Given the description of an element on the screen output the (x, y) to click on. 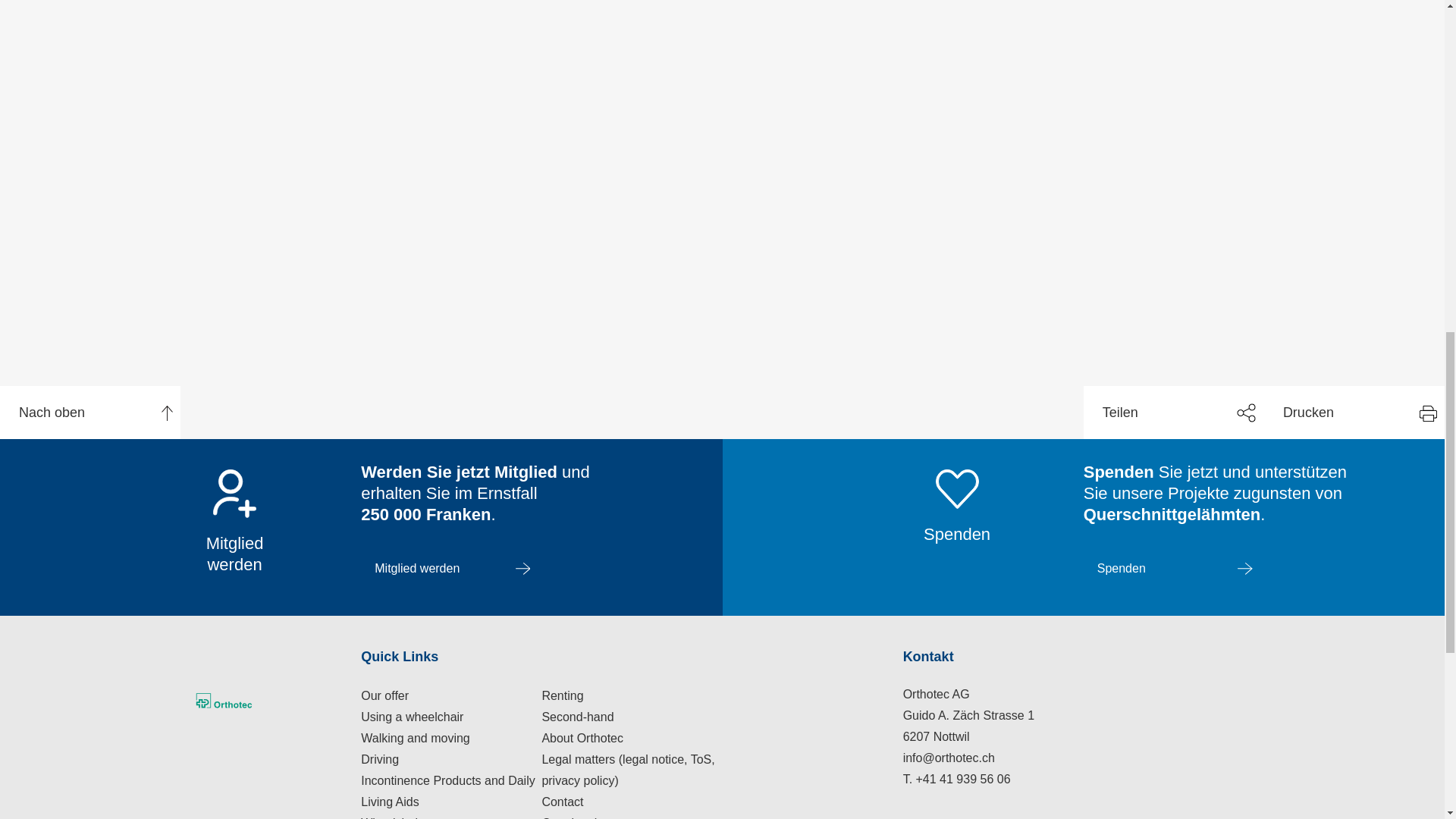
Orthotec (270, 699)
